Given the description of an element on the screen output the (x, y) to click on. 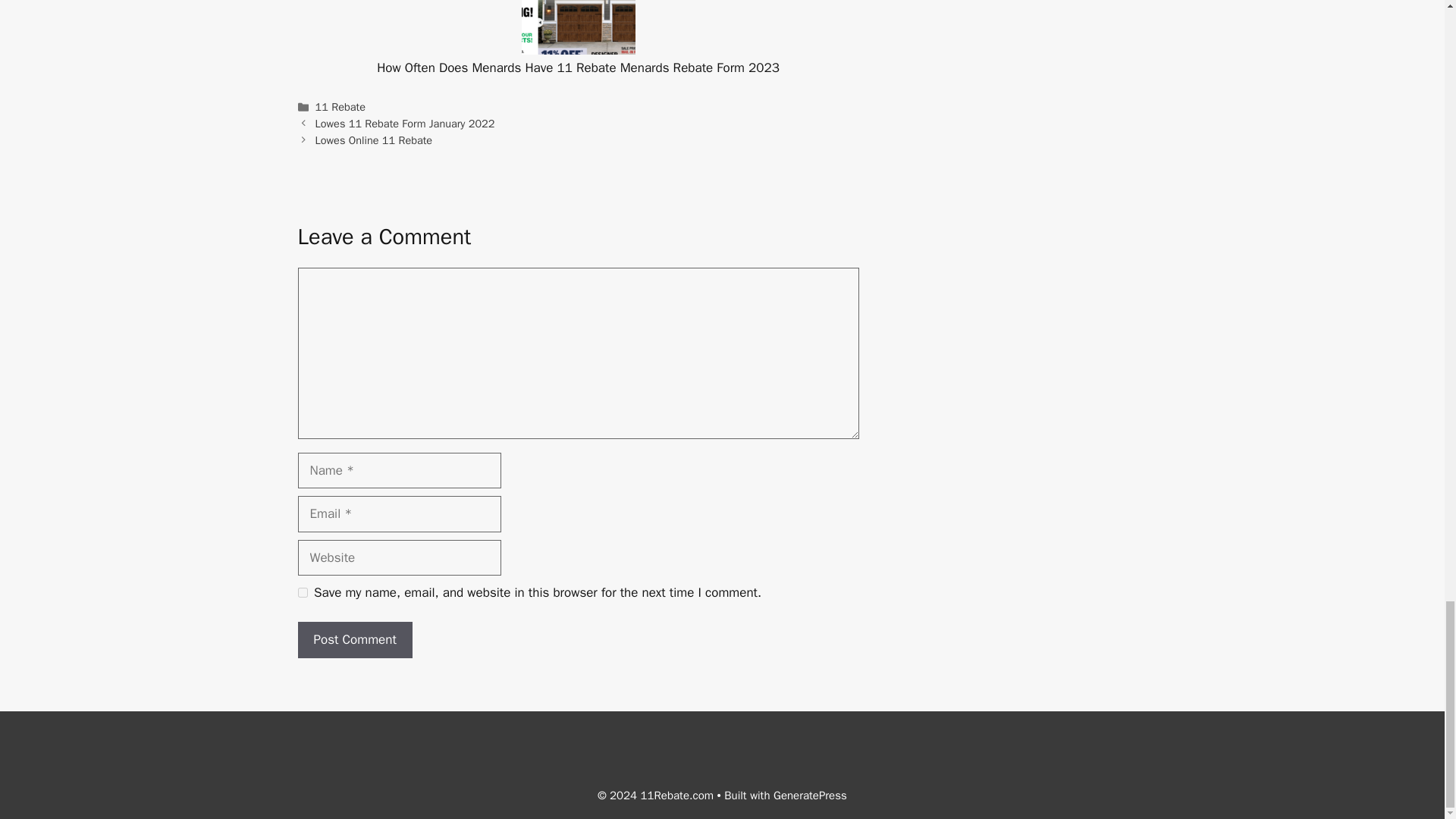
GeneratePress (810, 795)
yes (302, 592)
11 Rebate (340, 106)
Post Comment (354, 639)
Post Comment (354, 639)
Lowes 11 Rebate Form January 2022 (405, 123)
Lowes Online 11 Rebate (373, 140)
